Given the description of an element on the screen output the (x, y) to click on. 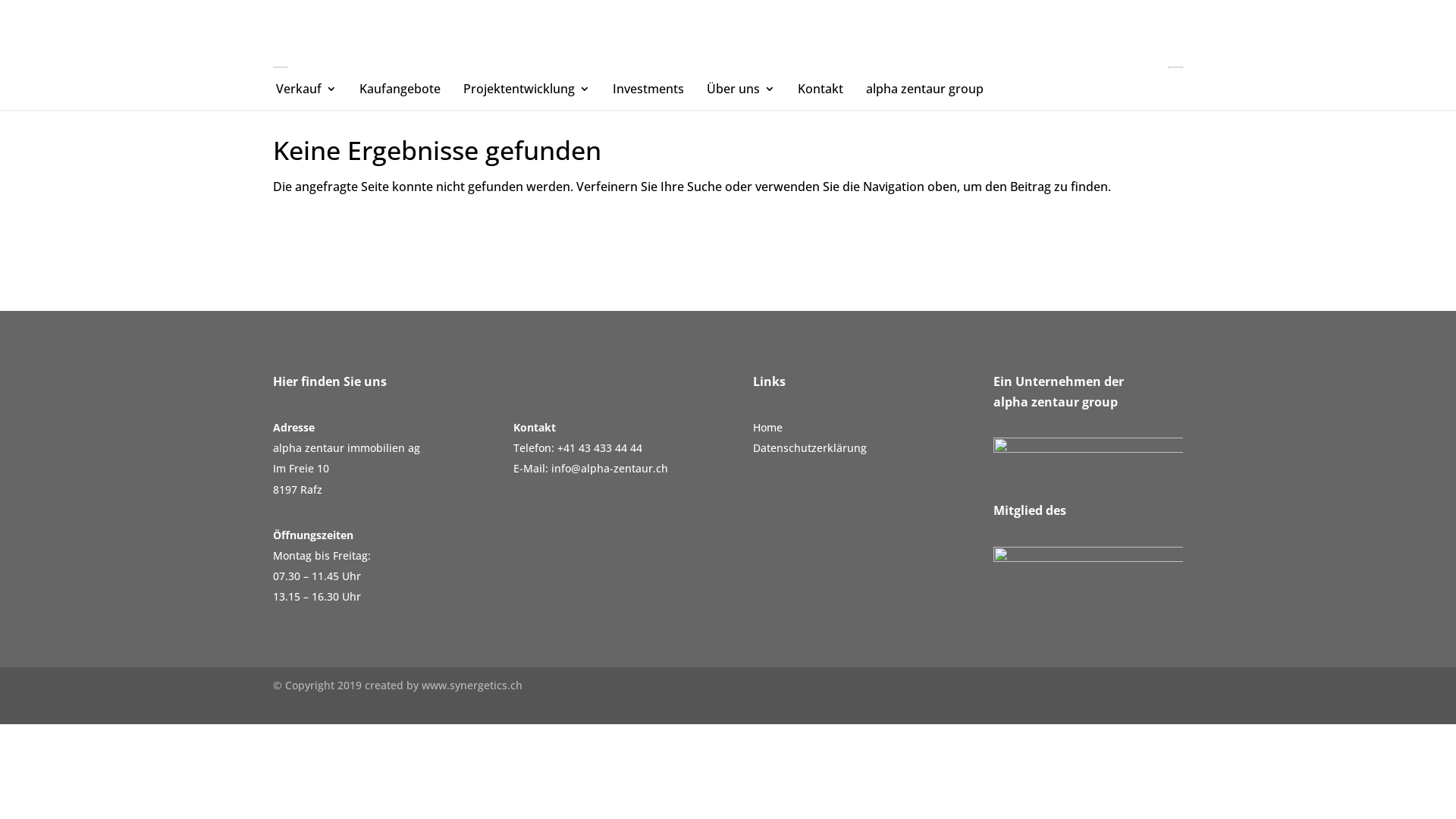
info@alpha-zentaur.ch Element type: text (608, 468)
Kaufangebote Element type: text (399, 88)
alpha zentaur group Element type: text (924, 88)
alphazentaurimmobilien Element type: hover (280, 66)
Kontakt Element type: text (820, 88)
Projektentwicklung Element type: text (526, 88)
Verkauf Element type: text (306, 88)
Home Element type: text (767, 427)
Investments Element type: text (648, 88)
